Given the description of an element on the screen output the (x, y) to click on. 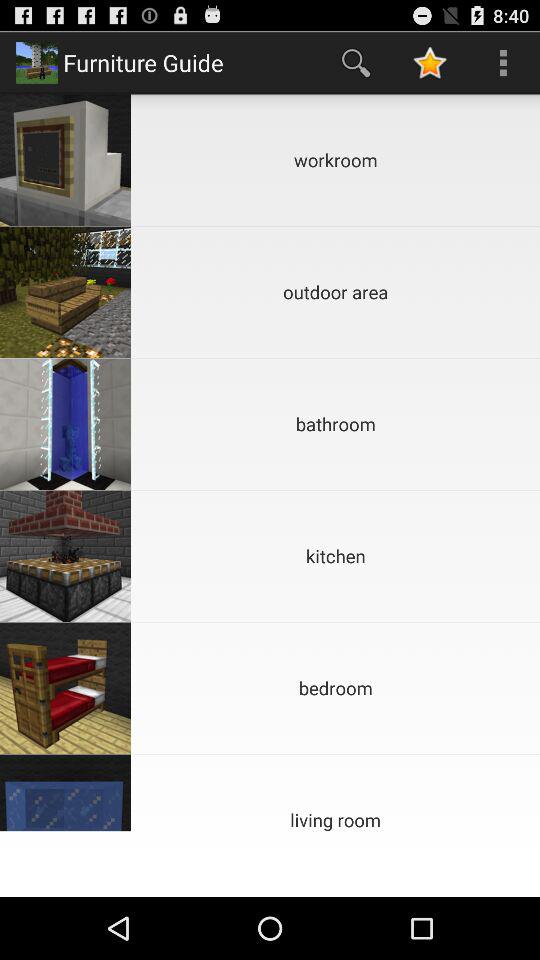
open app above workroom (356, 62)
